Given the description of an element on the screen output the (x, y) to click on. 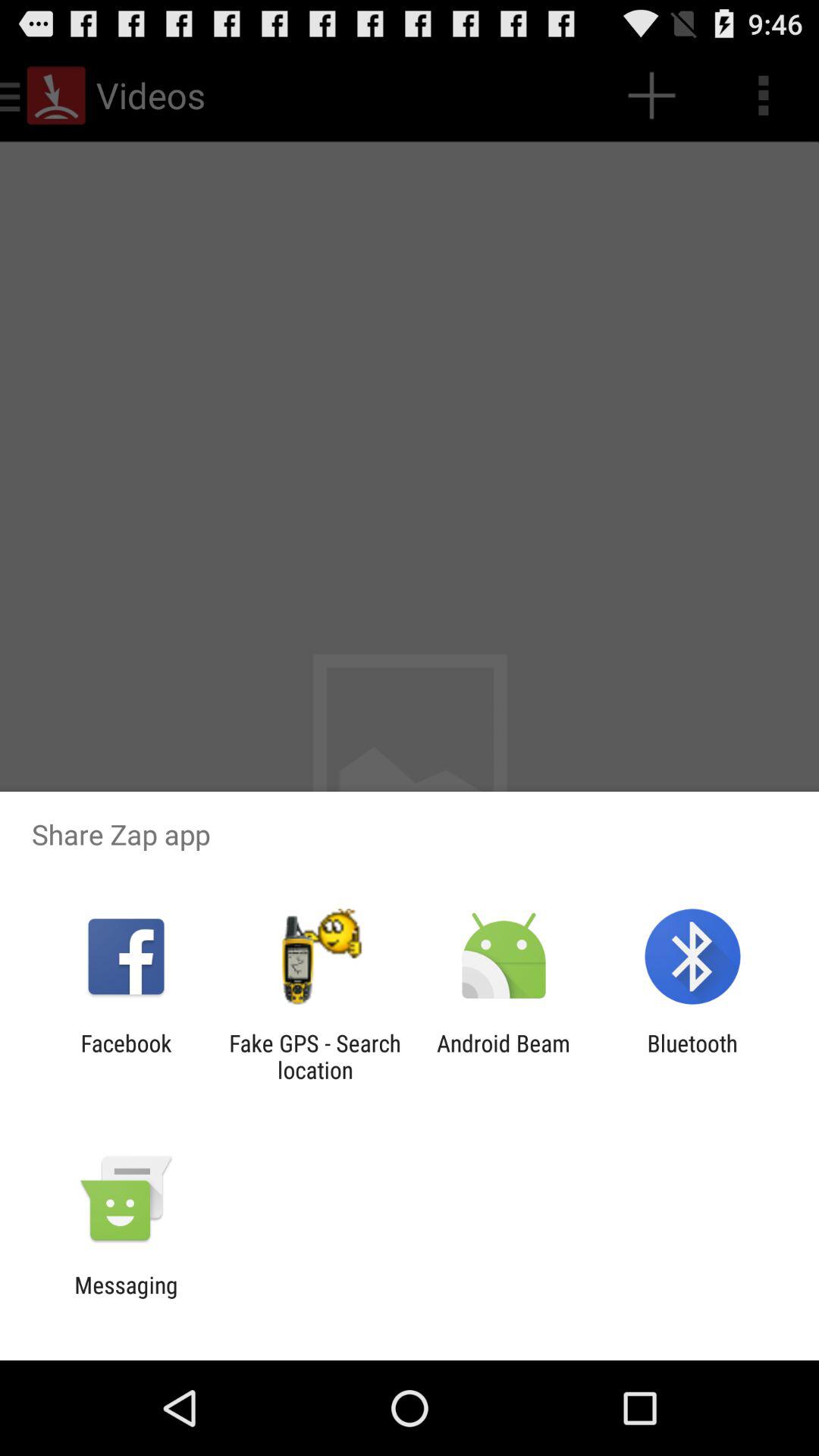
choose the icon next to android beam item (692, 1056)
